Given the description of an element on the screen output the (x, y) to click on. 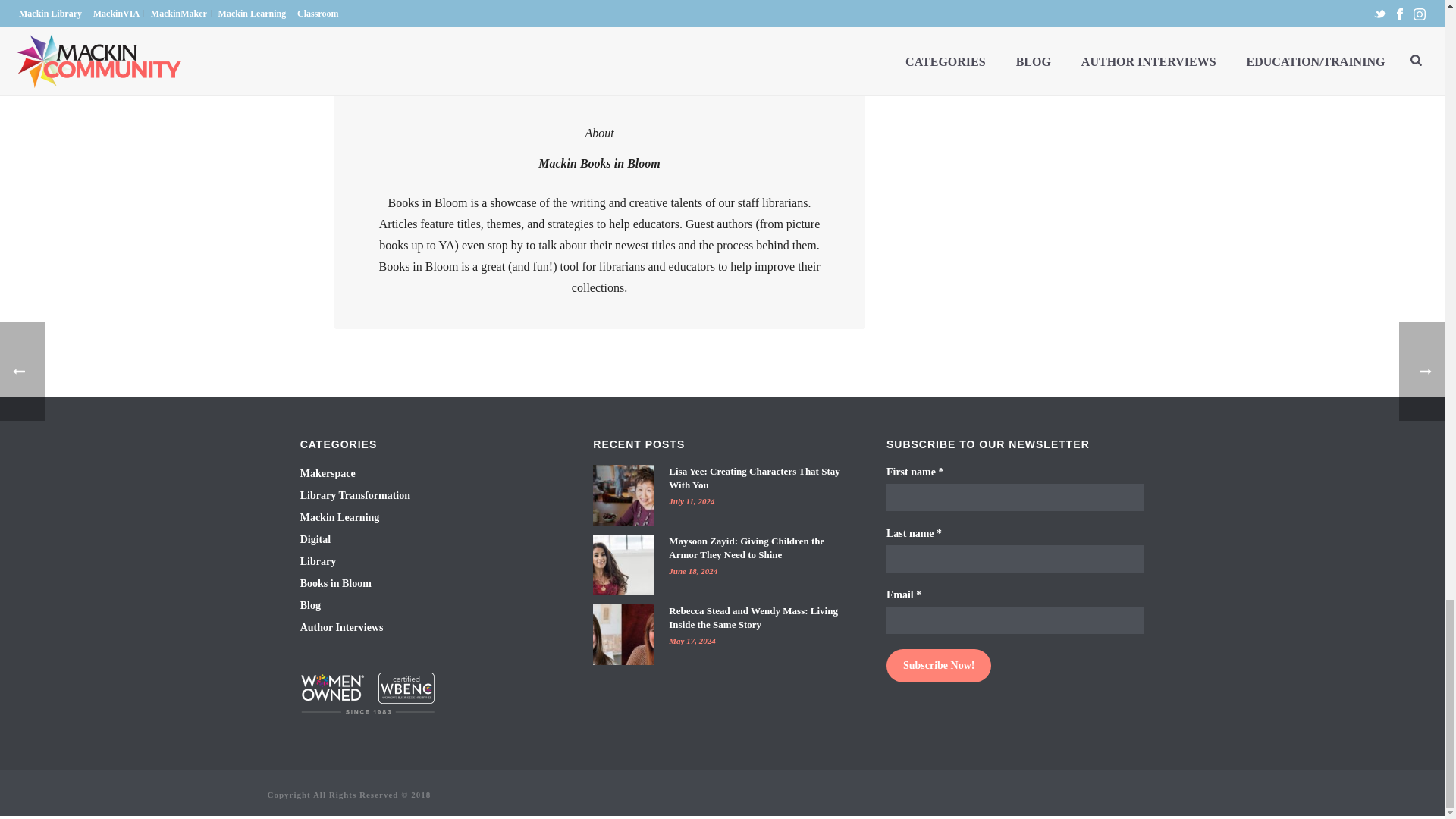
Maysoon Zayid: Giving Children the Armor They Need to Shine (622, 564)
First name (1015, 497)
Email (1015, 619)
Lisa Yee: Creating Characters That Stay With You (622, 495)
Last name (1015, 558)
Rebecca Stead and Wendy Mass: Living Inside the Same Story (622, 634)
Subscribe Now! (938, 665)
